Given the description of an element on the screen output the (x, y) to click on. 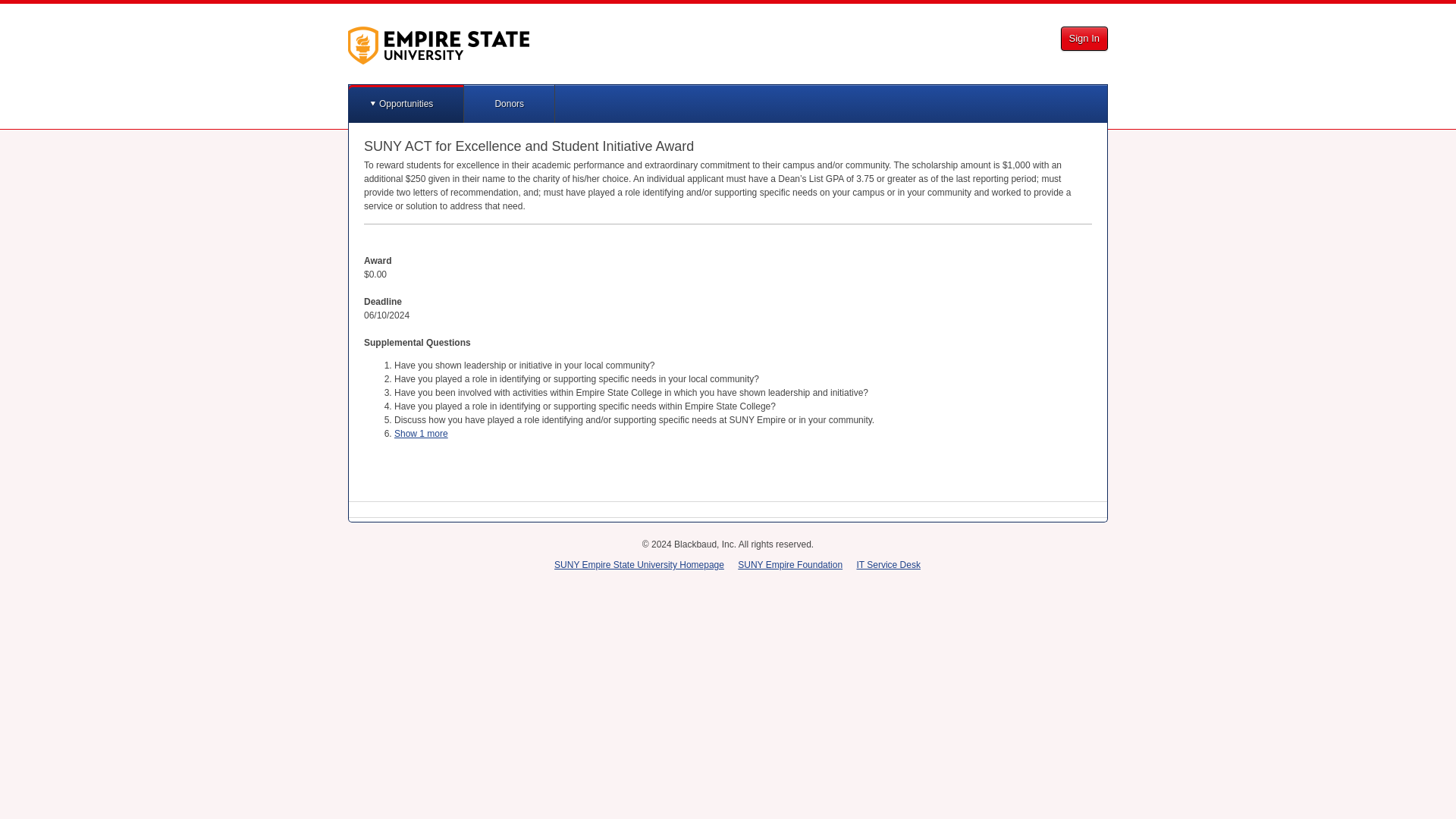
IT Service Desk (888, 564)
SUNY Empire State University Homepage (638, 564)
Opportunities (406, 103)
SUNY Empire State University Scholarships (438, 45)
SUNY Empire Foundation (790, 564)
Sign In (1084, 38)
Show 1 more (421, 433)
Donors (509, 103)
